Given the description of an element on the screen output the (x, y) to click on. 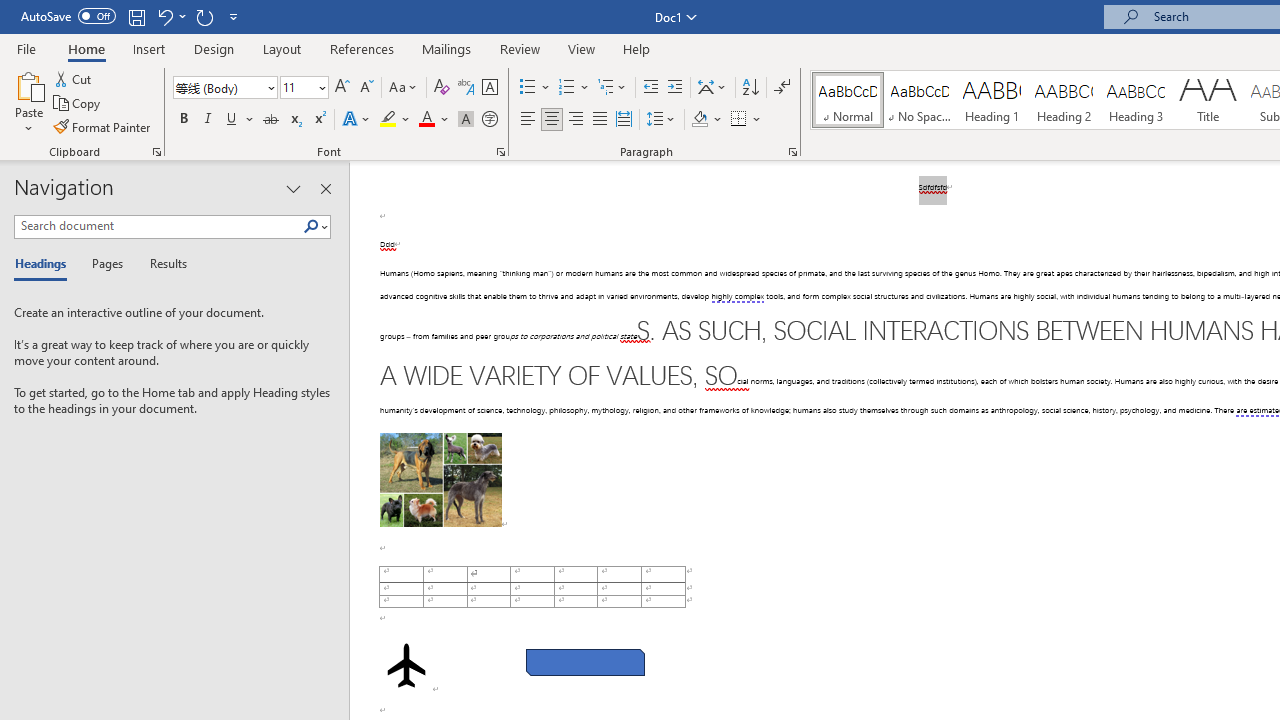
Undo Paragraph Alignment (170, 15)
